Given the description of an element on the screen output the (x, y) to click on. 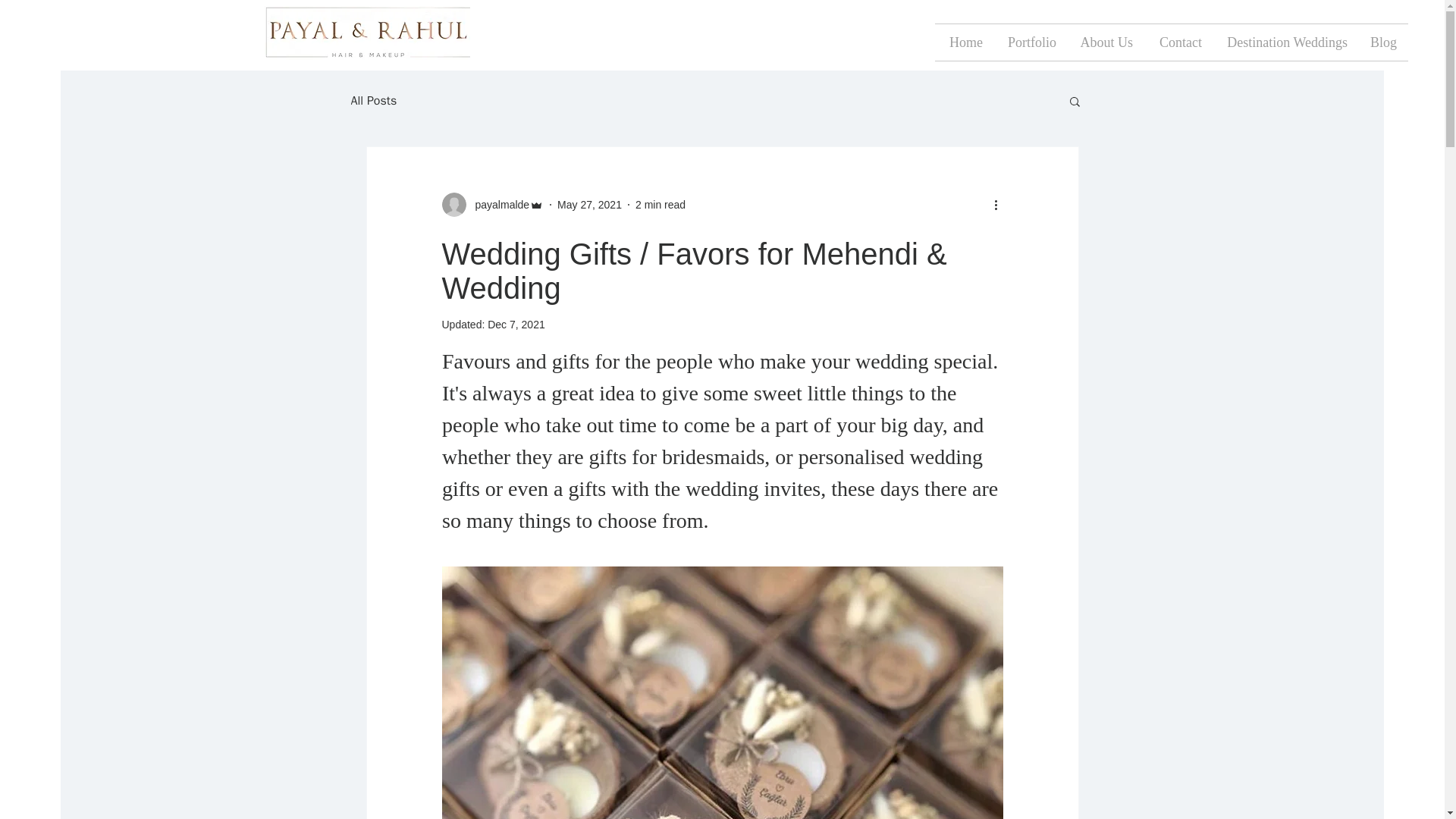
May 27, 2021 (589, 204)
About Us (1105, 42)
All Posts (373, 100)
payalmalde (492, 204)
Blog (1382, 42)
Home (964, 42)
2 min read (659, 204)
Destination Weddings (1285, 42)
Portfolio (1030, 42)
Dec 7, 2021 (515, 324)
